Given the description of an element on the screen output the (x, y) to click on. 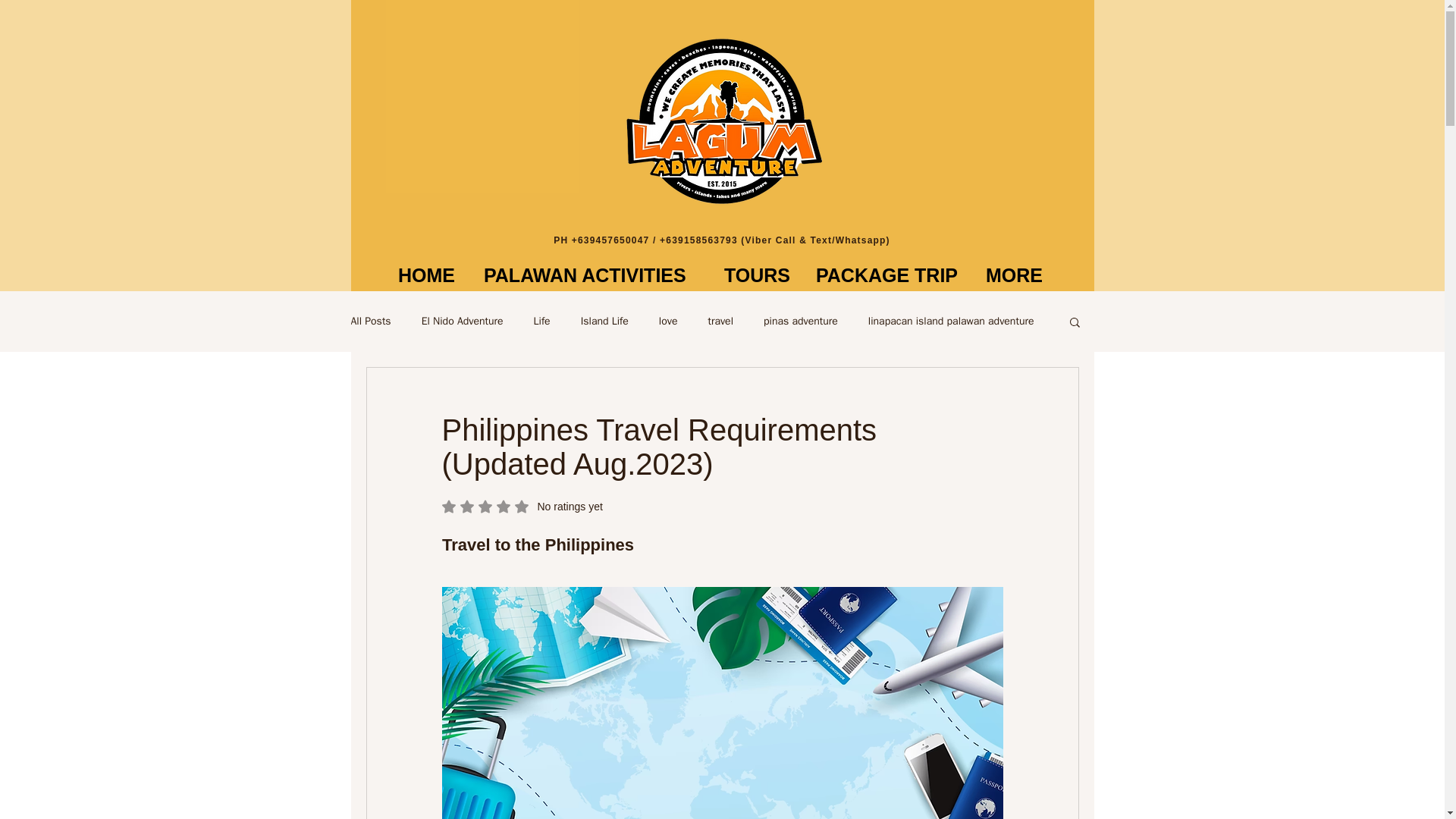
El Nido Adventure (462, 321)
All Posts (370, 321)
travel (720, 321)
linapacan island palawan adventure (950, 321)
love (668, 321)
pinas adventure (800, 321)
Life (542, 321)
Island Life (604, 321)
HOME (428, 275)
